Given the description of an element on the screen output the (x, y) to click on. 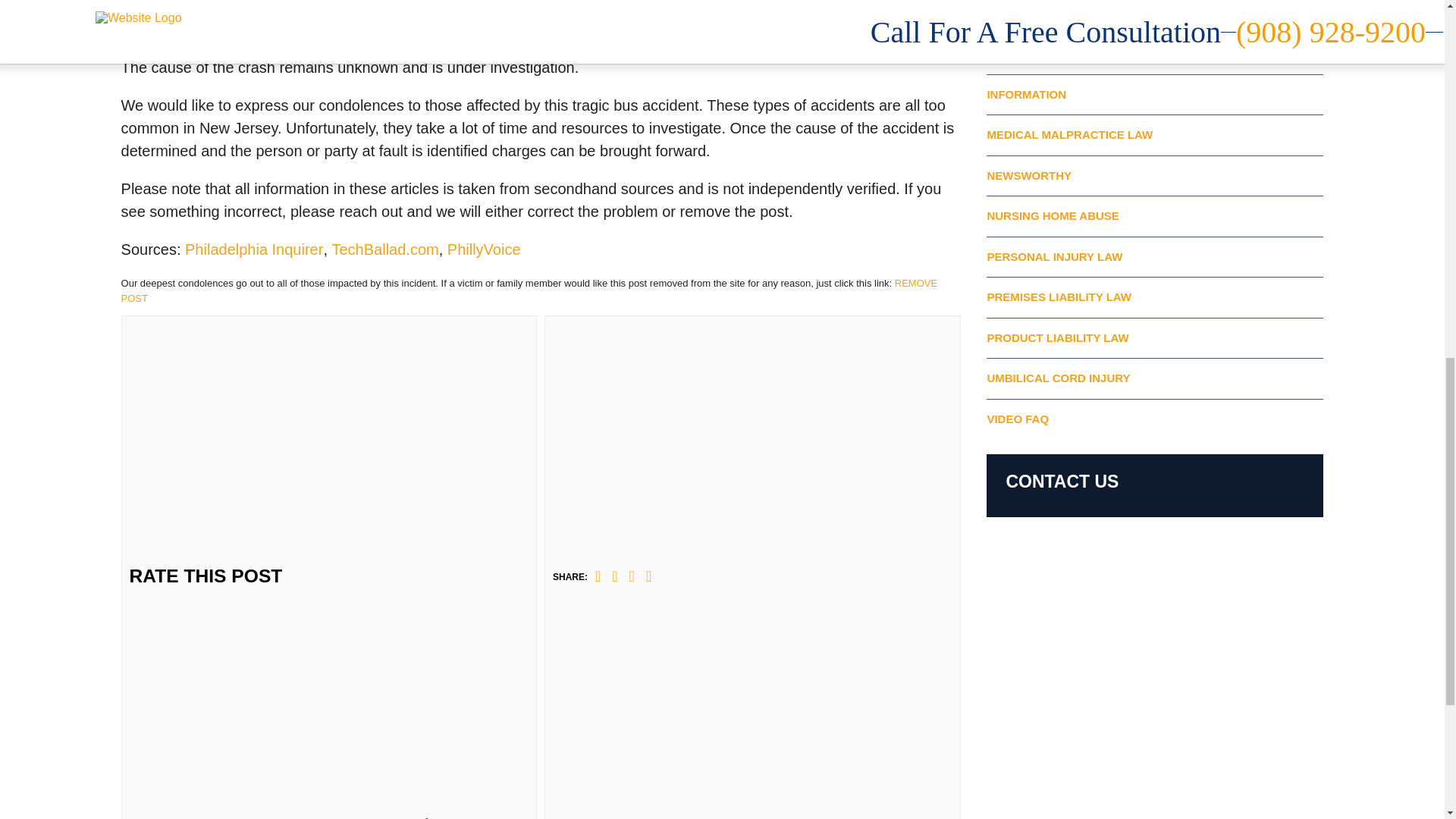
4 Stars (360, 666)
2 Stars (360, 470)
3 Stars (360, 569)
1 Star (360, 372)
5 Stars (360, 766)
